Given the description of an element on the screen output the (x, y) to click on. 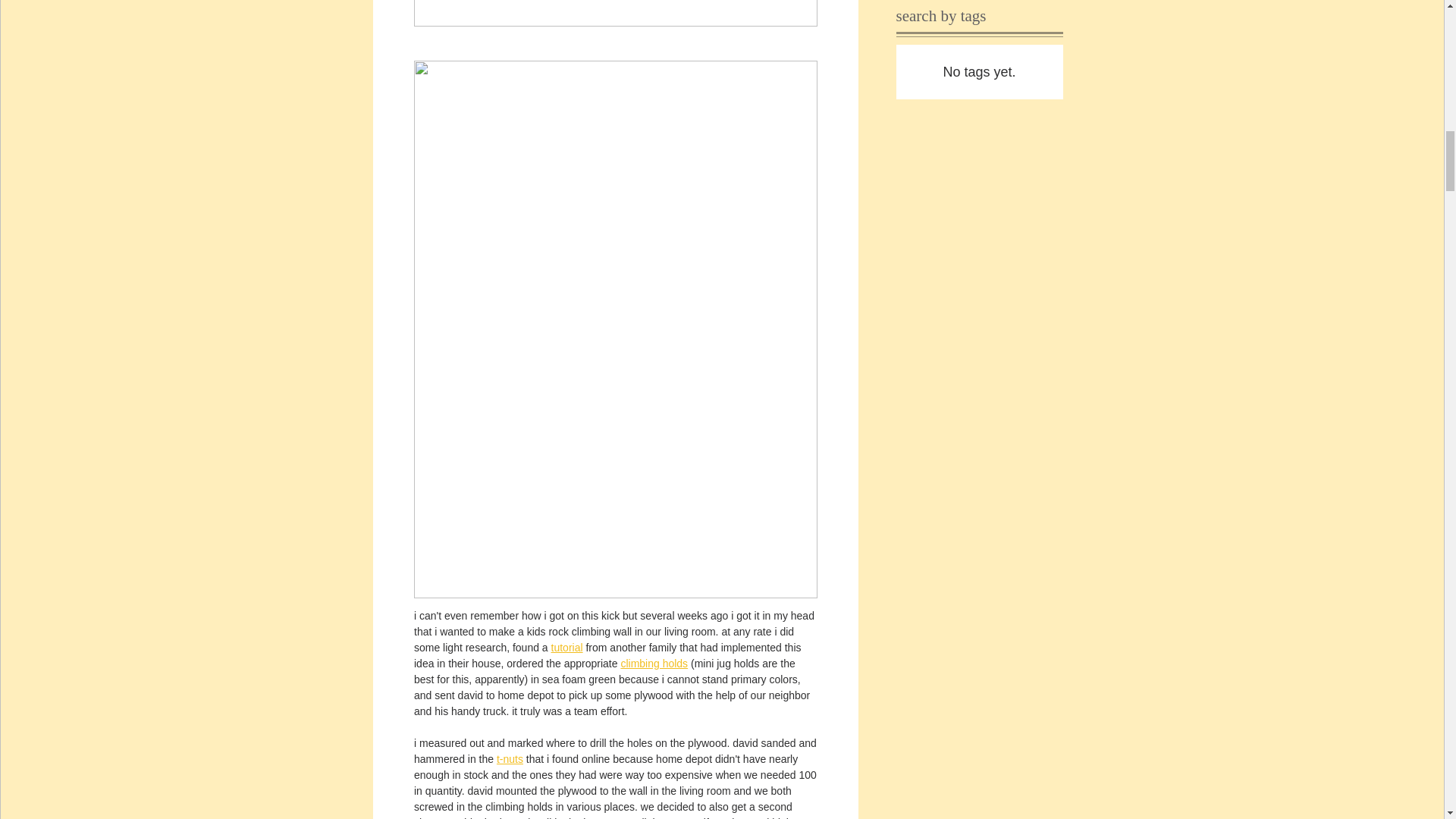
tutorial (566, 647)
climbing holds (653, 663)
t-nuts (509, 758)
